Given the description of an element on the screen output the (x, y) to click on. 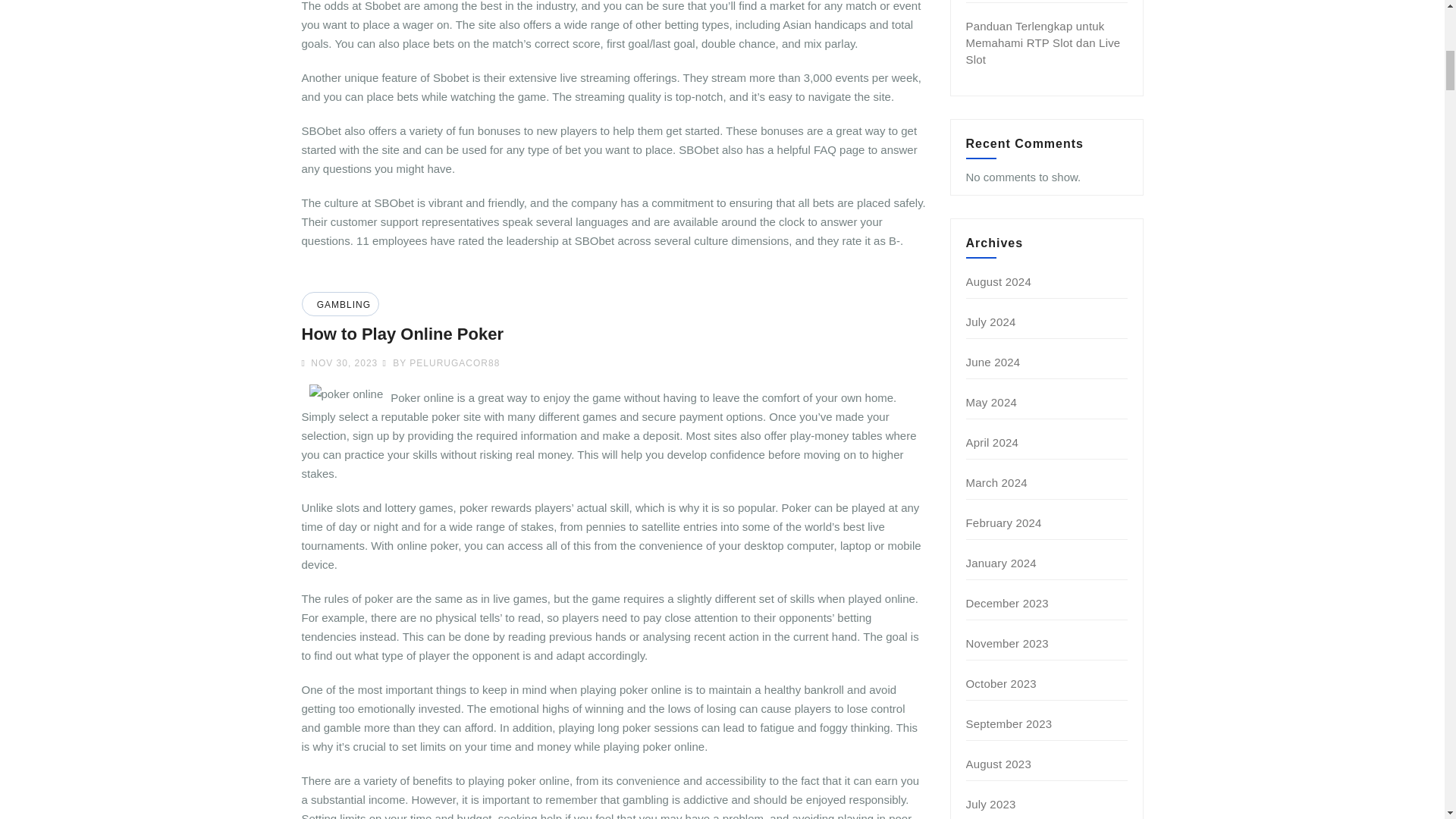
BY PELURUGACOR88 (440, 362)
GAMBLING (342, 304)
Permalink to: How to Play Online Poker (402, 333)
How to Play Online Poker (402, 333)
NOV 30, 2023 (342, 362)
